Given the description of an element on the screen output the (x, y) to click on. 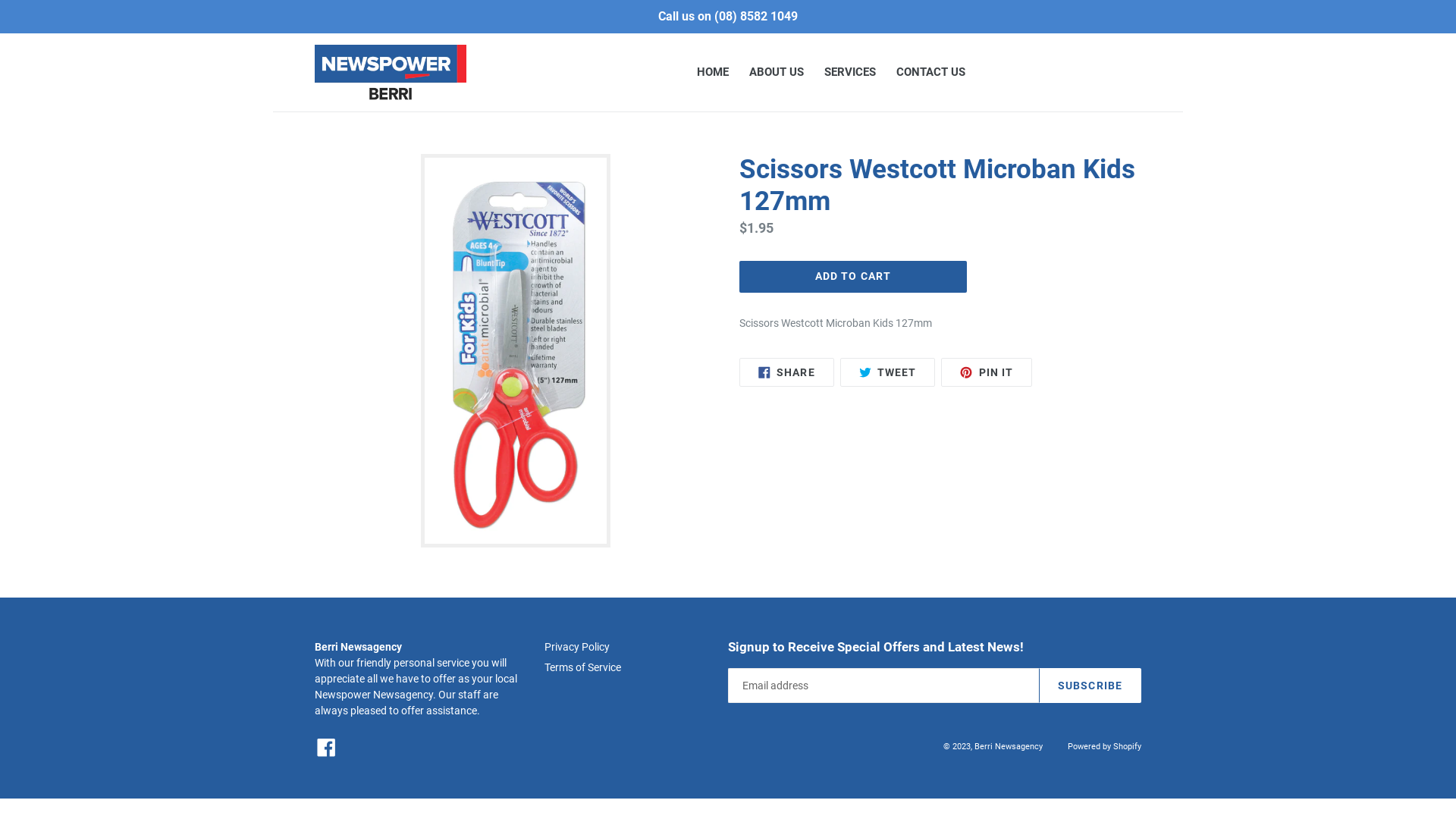
Powered by Shopify Element type: text (1104, 746)
PIN IT
PIN ON PINTEREST Element type: text (986, 371)
SERVICES Element type: text (849, 72)
Privacy Policy Element type: text (576, 646)
ADD TO CART Element type: text (852, 276)
HOME Element type: text (712, 72)
Facebook Element type: text (326, 746)
Terms of Service Element type: text (582, 667)
SHARE
SHARE ON FACEBOOK Element type: text (786, 371)
TWEET
TWEET ON TWITTER Element type: text (887, 371)
Berri Newsagency Element type: text (1008, 746)
ABOUT US Element type: text (776, 72)
CONTACT US Element type: text (930, 72)
SUBSCRIBE Element type: text (1089, 685)
